Given the description of an element on the screen output the (x, y) to click on. 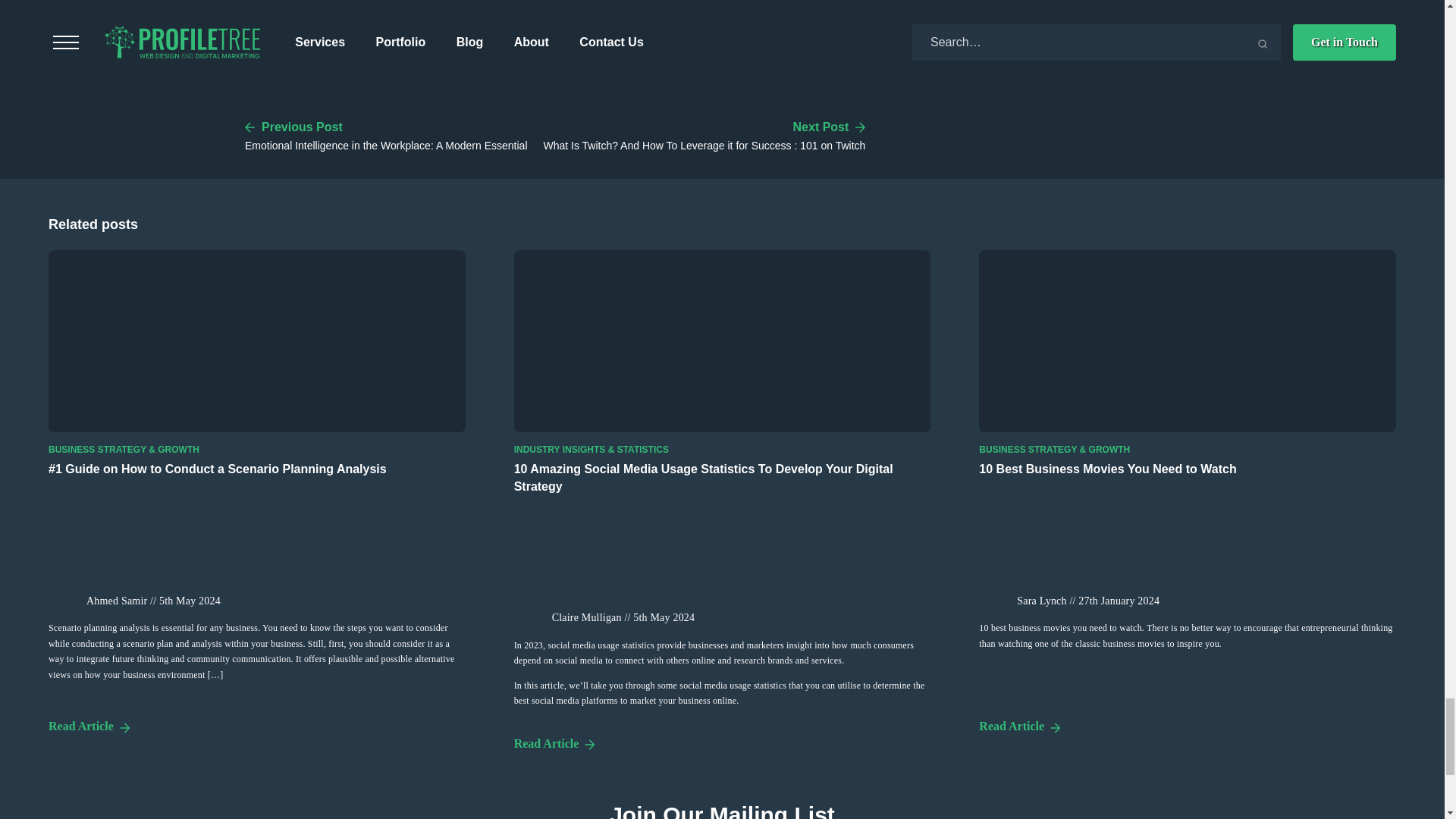
Post Comment (313, 36)
